Given the description of an element on the screen output the (x, y) to click on. 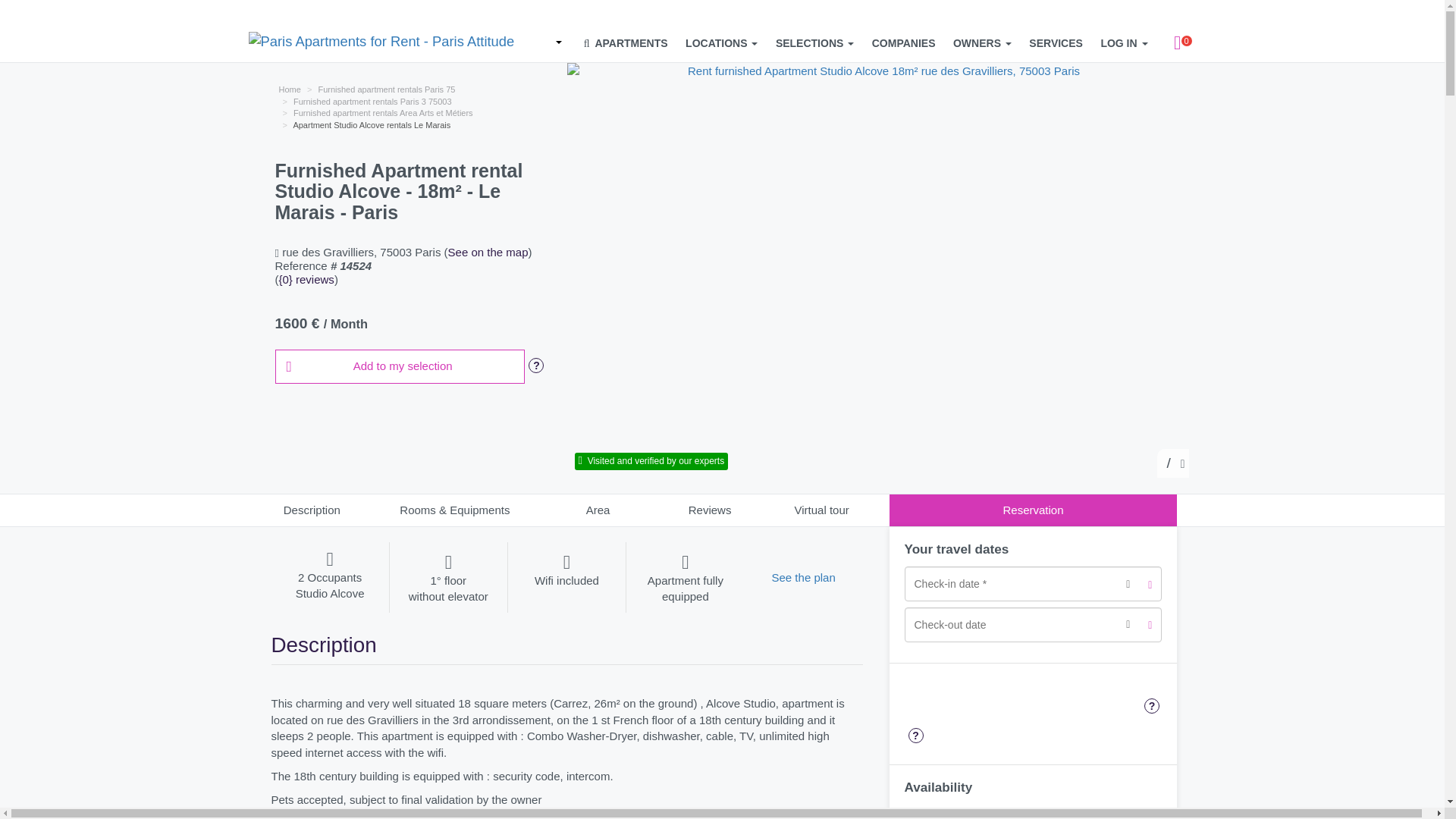
0 (1177, 43)
APARTMENTS (625, 43)
LOCATIONS (721, 43)
